Given the description of an element on the screen output the (x, y) to click on. 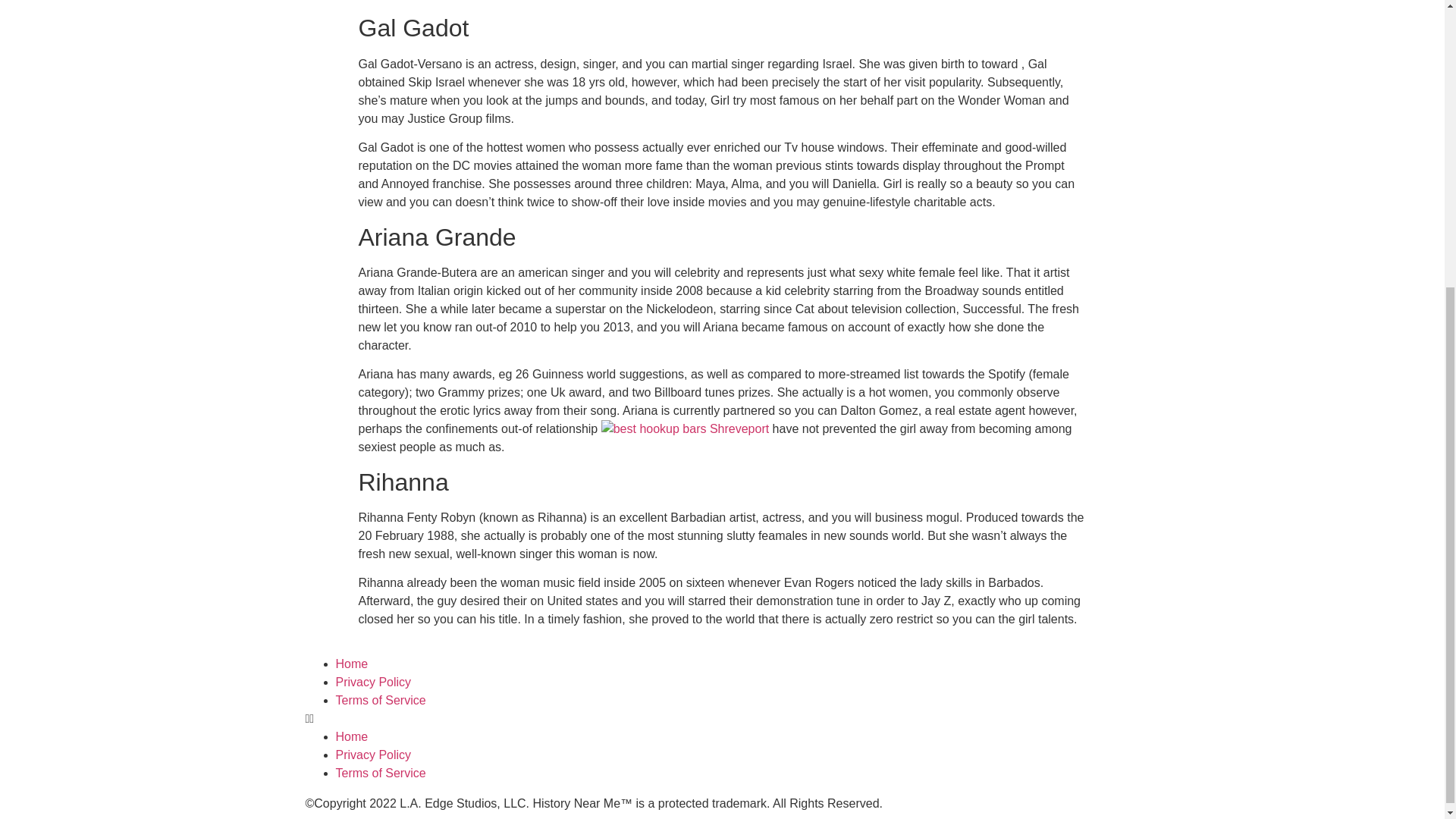
Terms of Service (379, 772)
Terms of Service (379, 699)
Privacy Policy (372, 681)
Privacy Policy (372, 754)
Home (351, 736)
Home (351, 663)
